Given the description of an element on the screen output the (x, y) to click on. 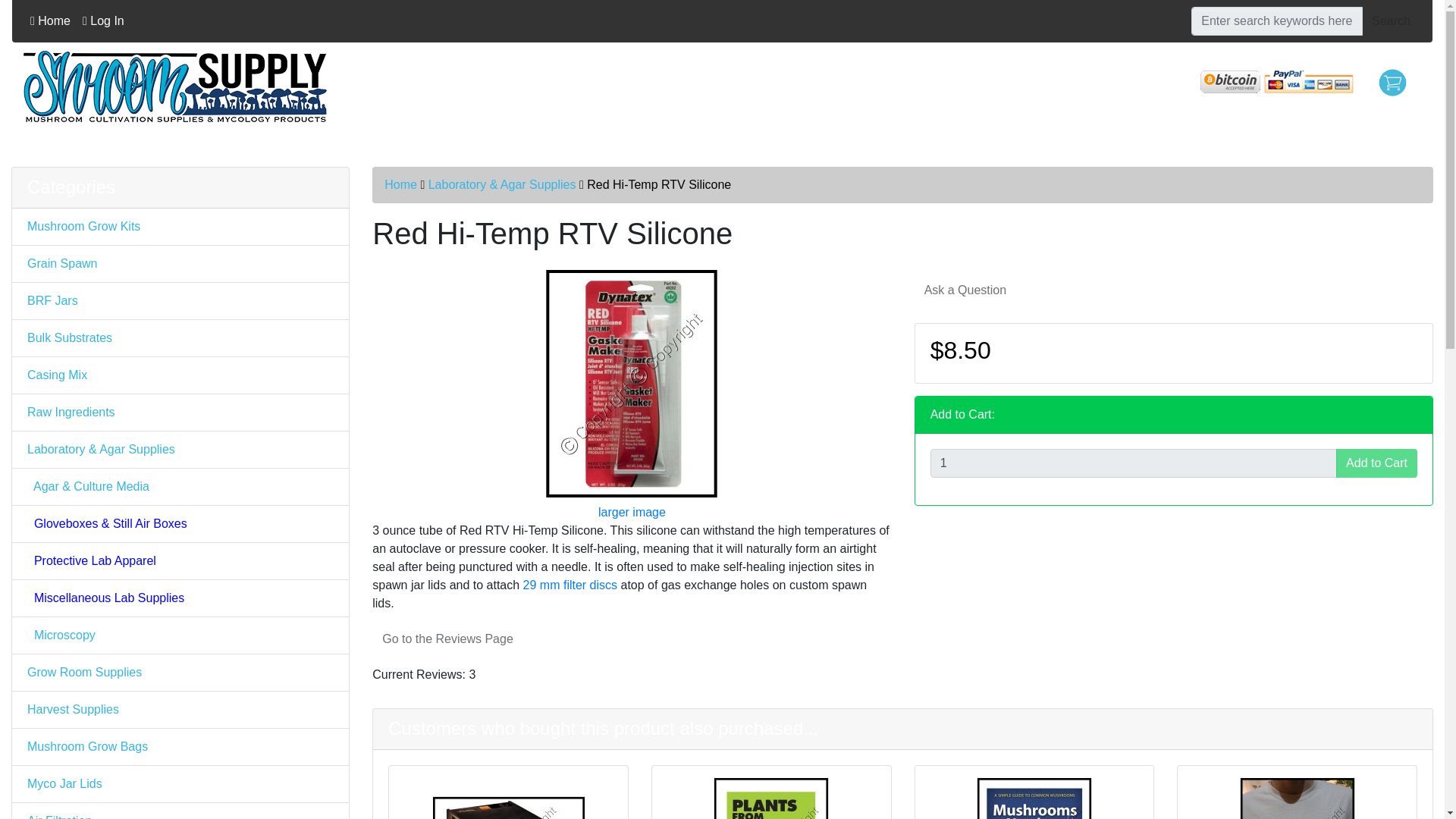
Mushroom Grow Kits (180, 226)
Home (50, 20)
Excalibur Dehydrator - 9 Tray - Deluxe 3900 Series (508, 798)
Graffiti - Shroom Supply T-Shirt (1297, 798)
Red Hi-Temp RTV Silicone (631, 383)
Log In (104, 20)
Search (1391, 21)
1 (1133, 462)
Grain Spawn (180, 263)
